Given the description of an element on the screen output the (x, y) to click on. 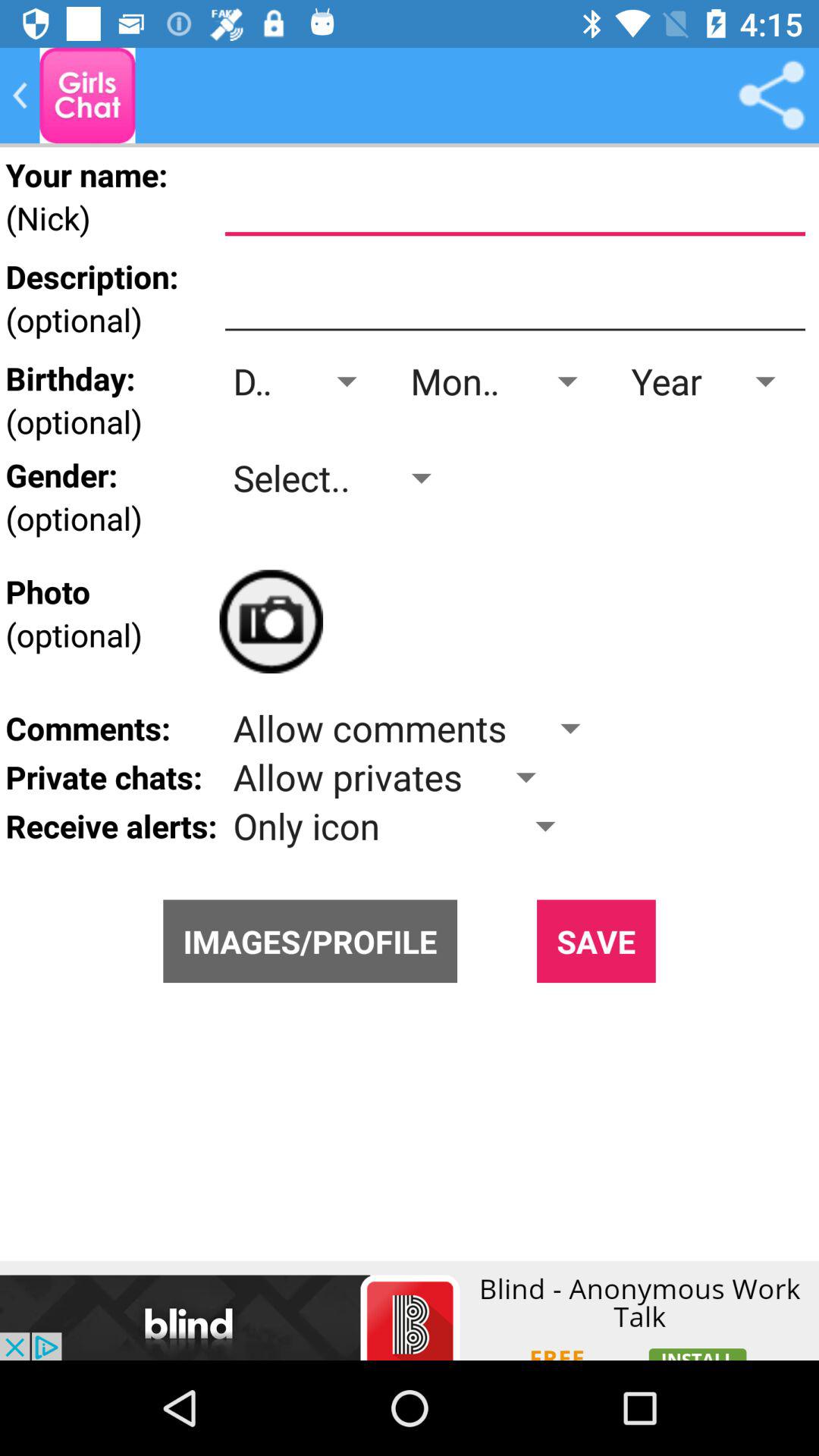
itens option (771, 95)
